Given the description of an element on the screen output the (x, y) to click on. 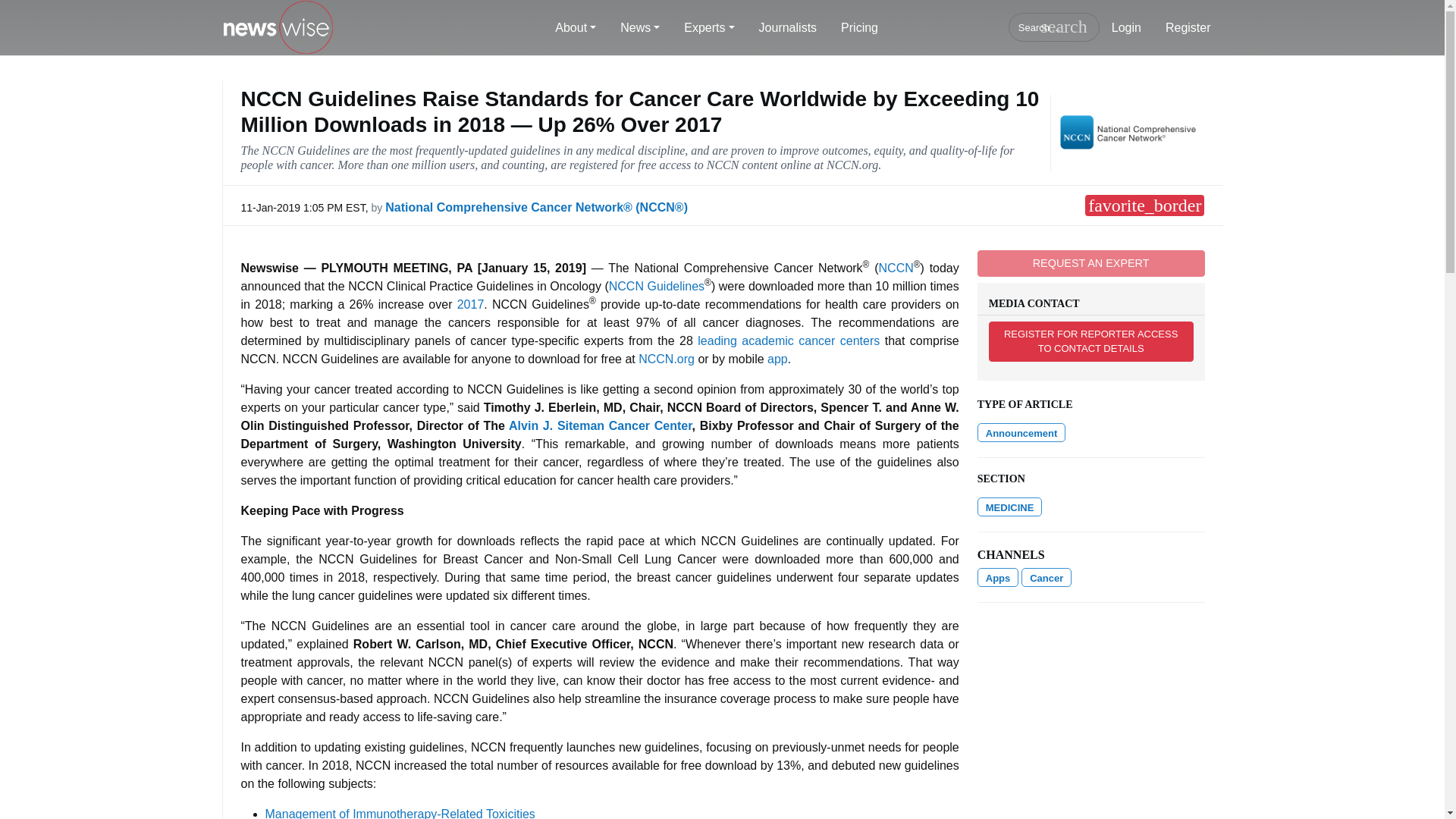
Newswise logo (277, 28)
Add to Favorites (1144, 205)
Announcement (1020, 432)
About (575, 27)
Show all articles in this channel (1046, 577)
Show all articles in this channel (1009, 506)
Show all articles in this channel (997, 577)
News (639, 27)
